Given the description of an element on the screen output the (x, y) to click on. 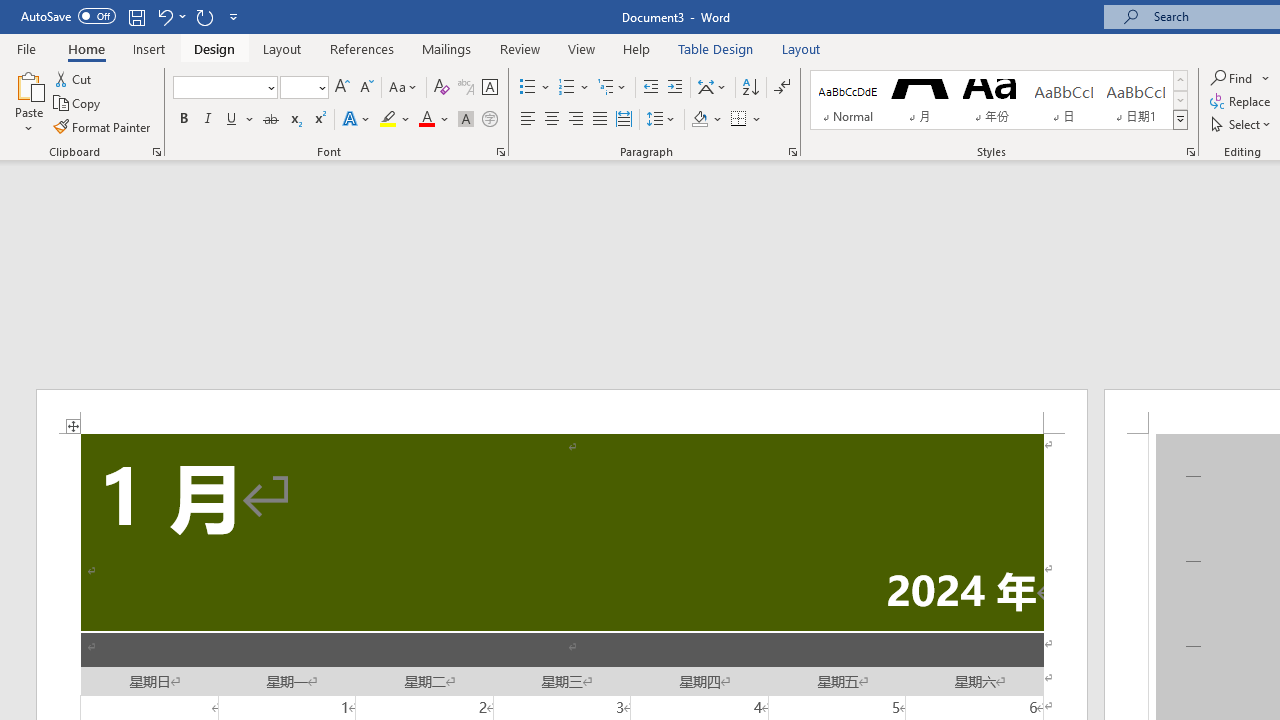
Font Color RGB(255, 0, 0) (426, 119)
